Given the description of an element on the screen output the (x, y) to click on. 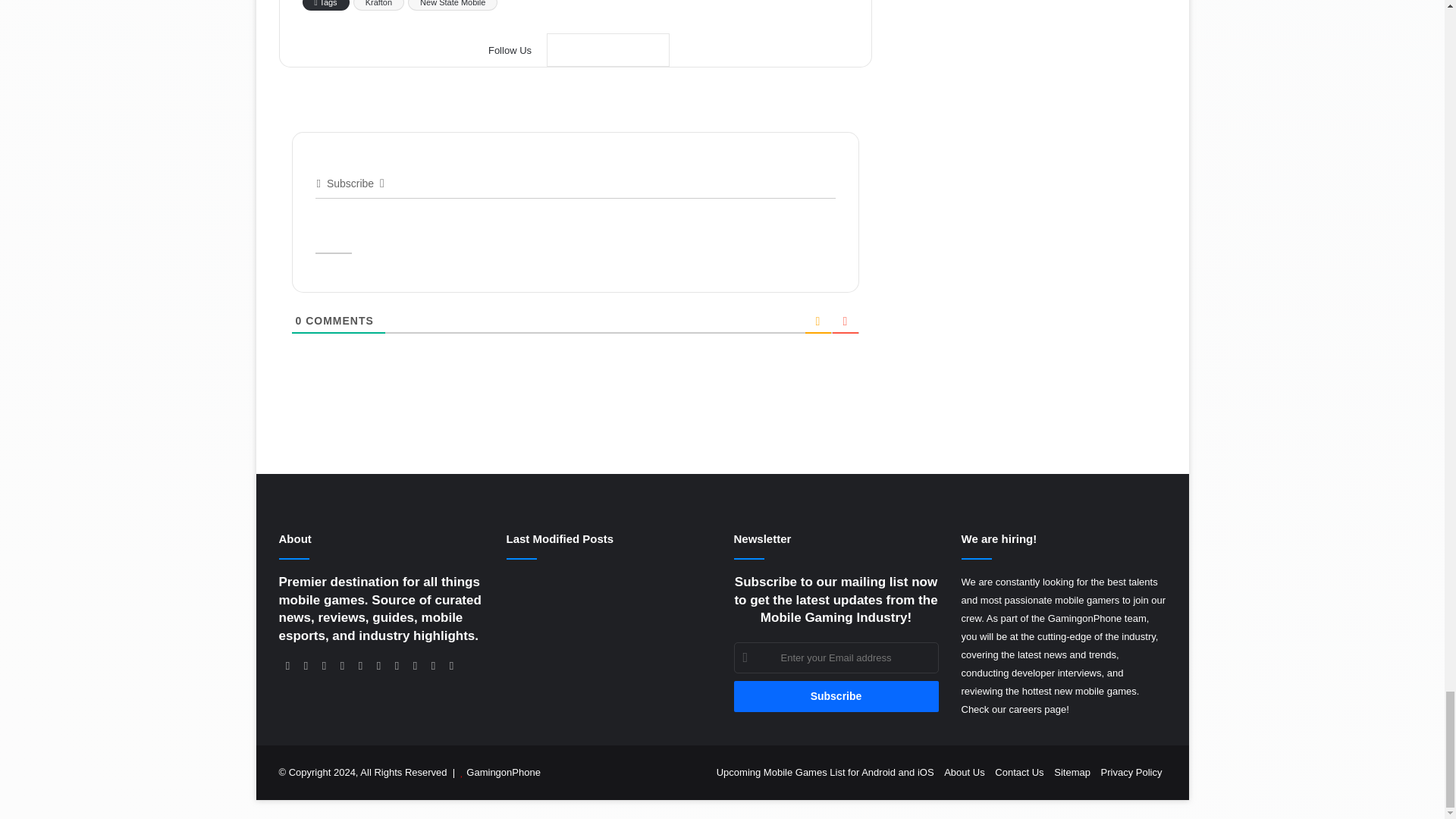
Google News (608, 49)
Subscribe (836, 695)
